Given the description of an element on the screen output the (x, y) to click on. 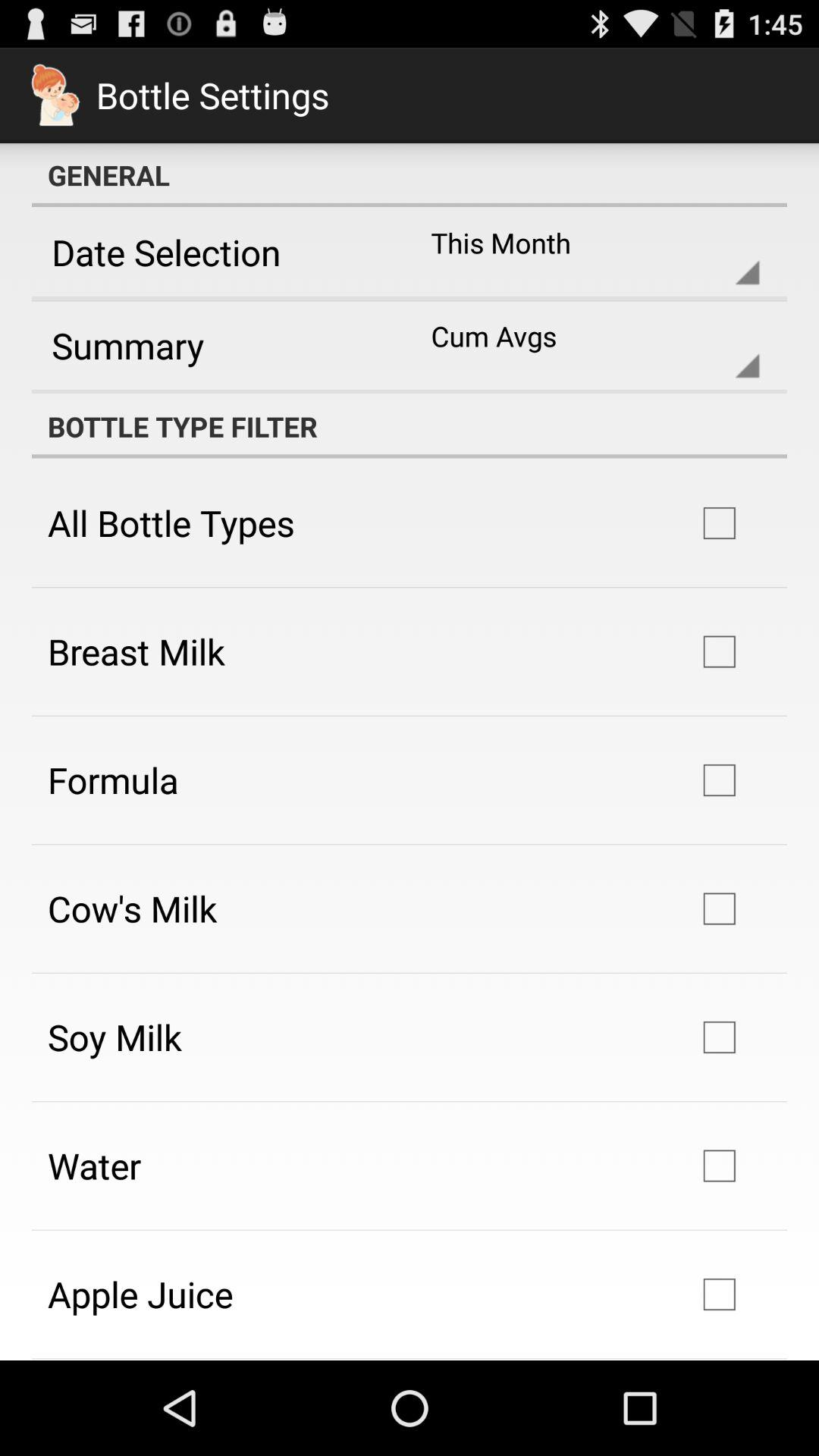
scroll until the cow's milk icon (132, 908)
